Given the description of an element on the screen output the (x, y) to click on. 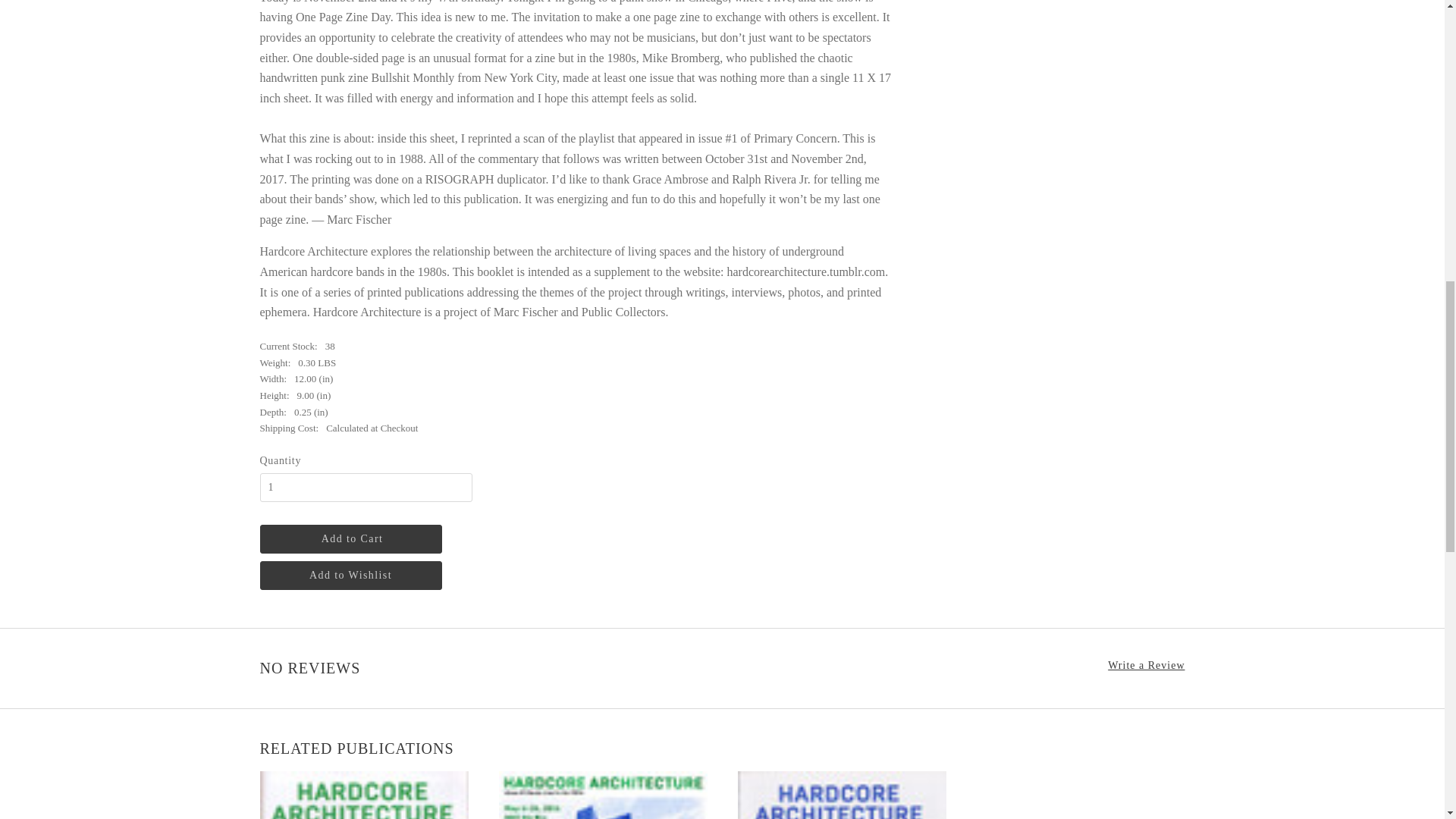
Write a Review (1146, 665)
Hardcore Architecture: Justin Blinder (840, 795)
1 (365, 487)
Hardcore Architecture (363, 795)
Add to Cart (350, 538)
Add to Wishlist (350, 575)
Hardcore Architecture NY Poster Set (603, 795)
